Given the description of an element on the screen output the (x, y) to click on. 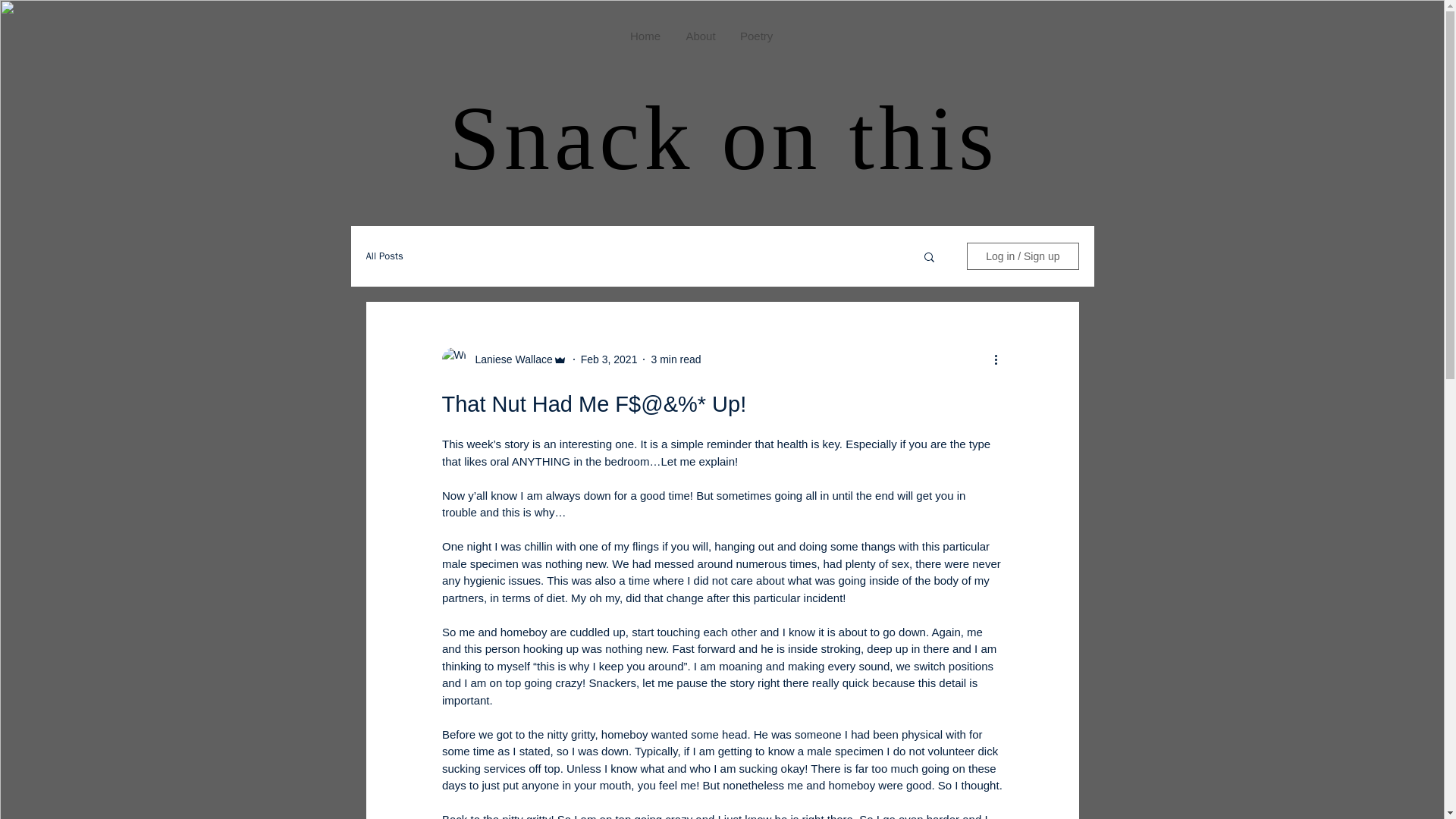
Home (644, 36)
Laniese Wallace (508, 359)
All Posts (384, 255)
About (700, 36)
Snack on this (723, 138)
3 min read (675, 358)
Poetry (755, 36)
Feb 3, 2021 (608, 358)
